Given the description of an element on the screen output the (x, y) to click on. 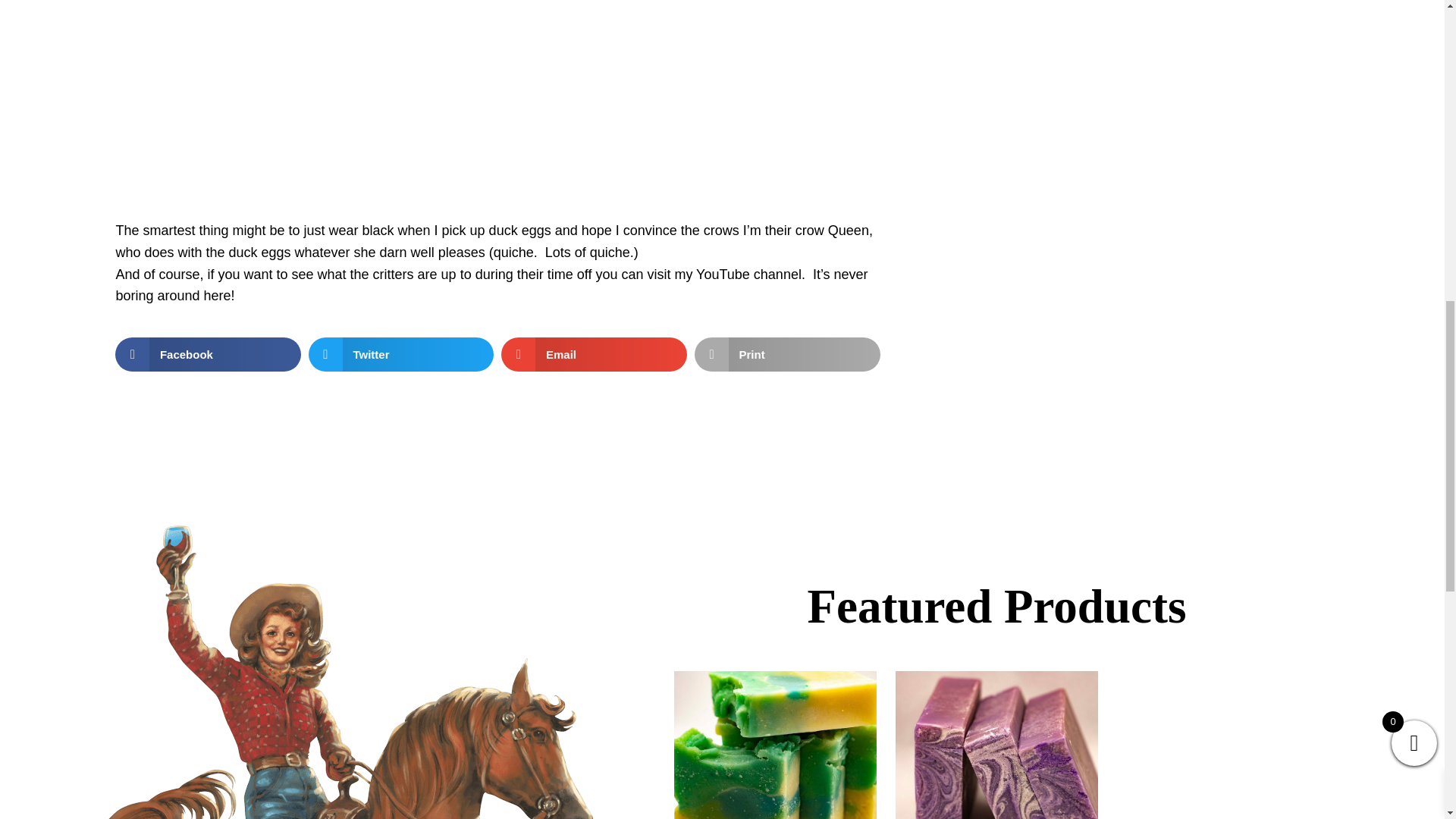
Clover Field Goat Milk Soap (774, 741)
the crows have eyes (305, 88)
